Given the description of an element on the screen output the (x, y) to click on. 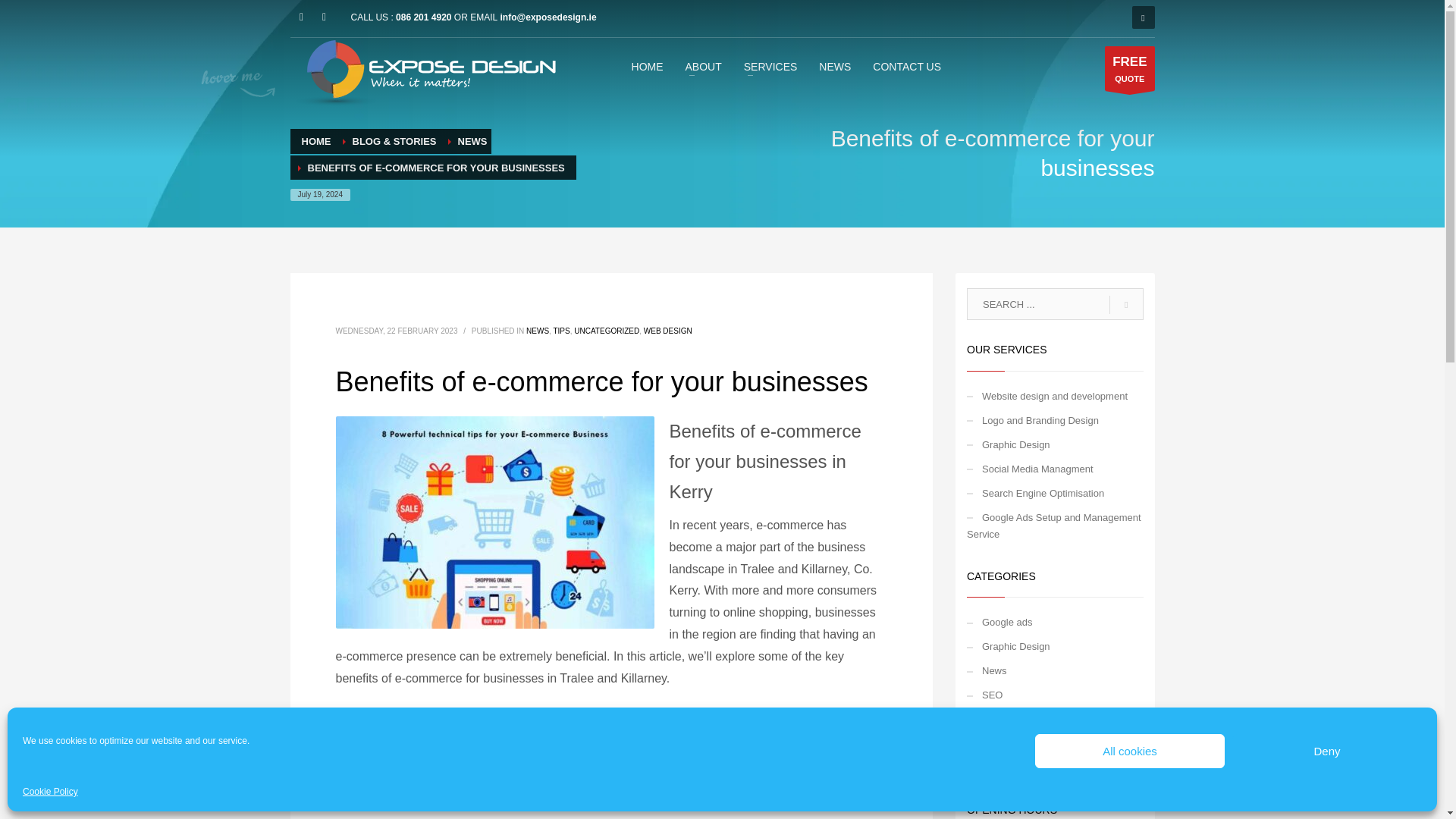
All cookies (1129, 750)
SERVICES (770, 66)
E-Commerce, Logo and Branding - Tralee, Killarney, Co. Kerry (421, 73)
Twitter (323, 16)
HOME (647, 66)
Deny (1326, 750)
e-commerce-business-tralee kerry killarney (493, 522)
Cookie Policy (50, 791)
ABOUT (703, 66)
NEWS (1129, 67)
CONTACT US (834, 66)
Facebook (906, 66)
086 201 4920 (301, 16)
HOME (425, 17)
